Given the description of an element on the screen output the (x, y) to click on. 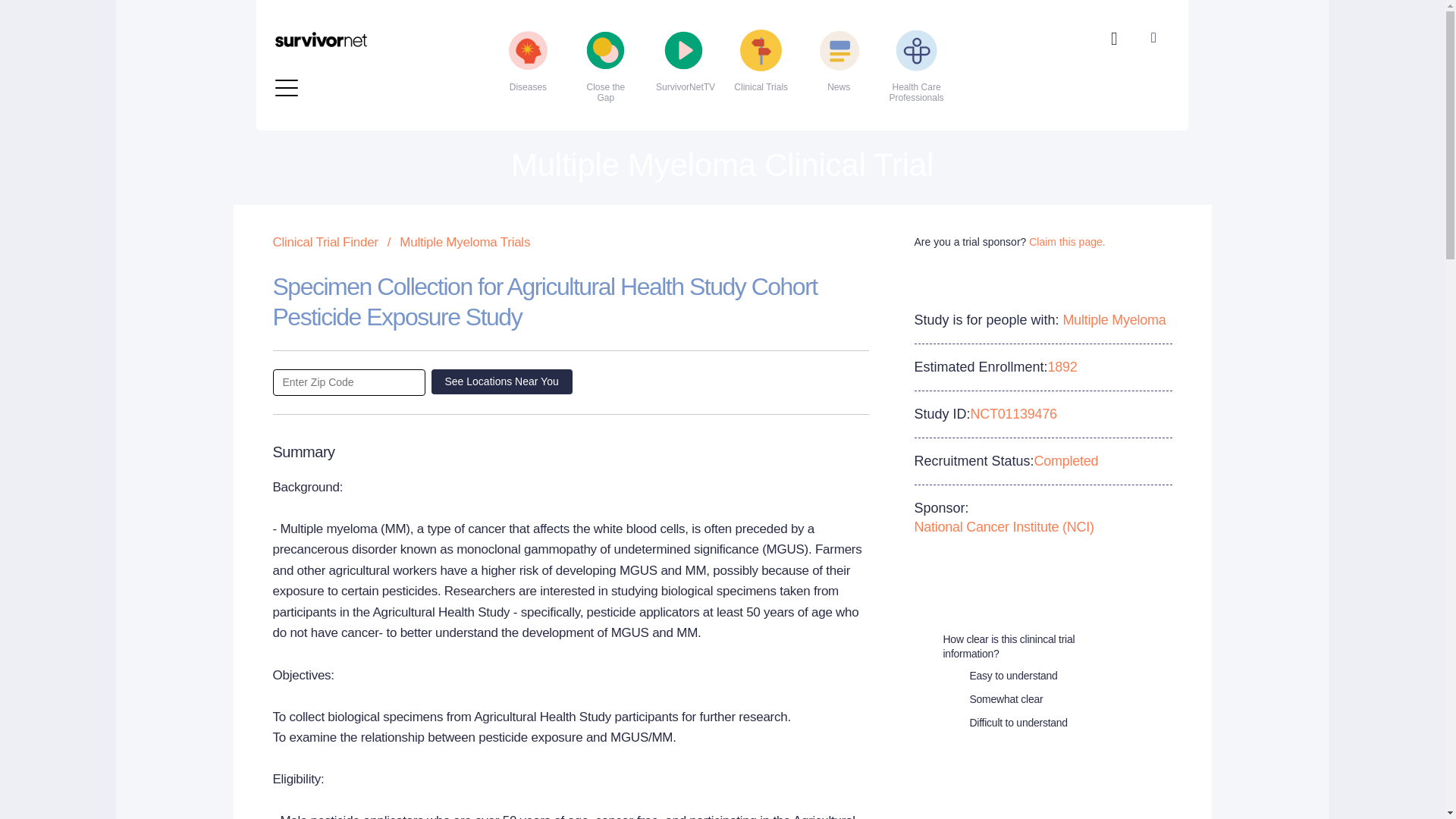
Ovarian Cancer (661, 7)
Heart Failure (364, 28)
Prostate Cancer (661, 28)
Psoriasis (661, 52)
Liver Cancer (364, 78)
Esophageal Cancer (364, 7)
